Given the description of an element on the screen output the (x, y) to click on. 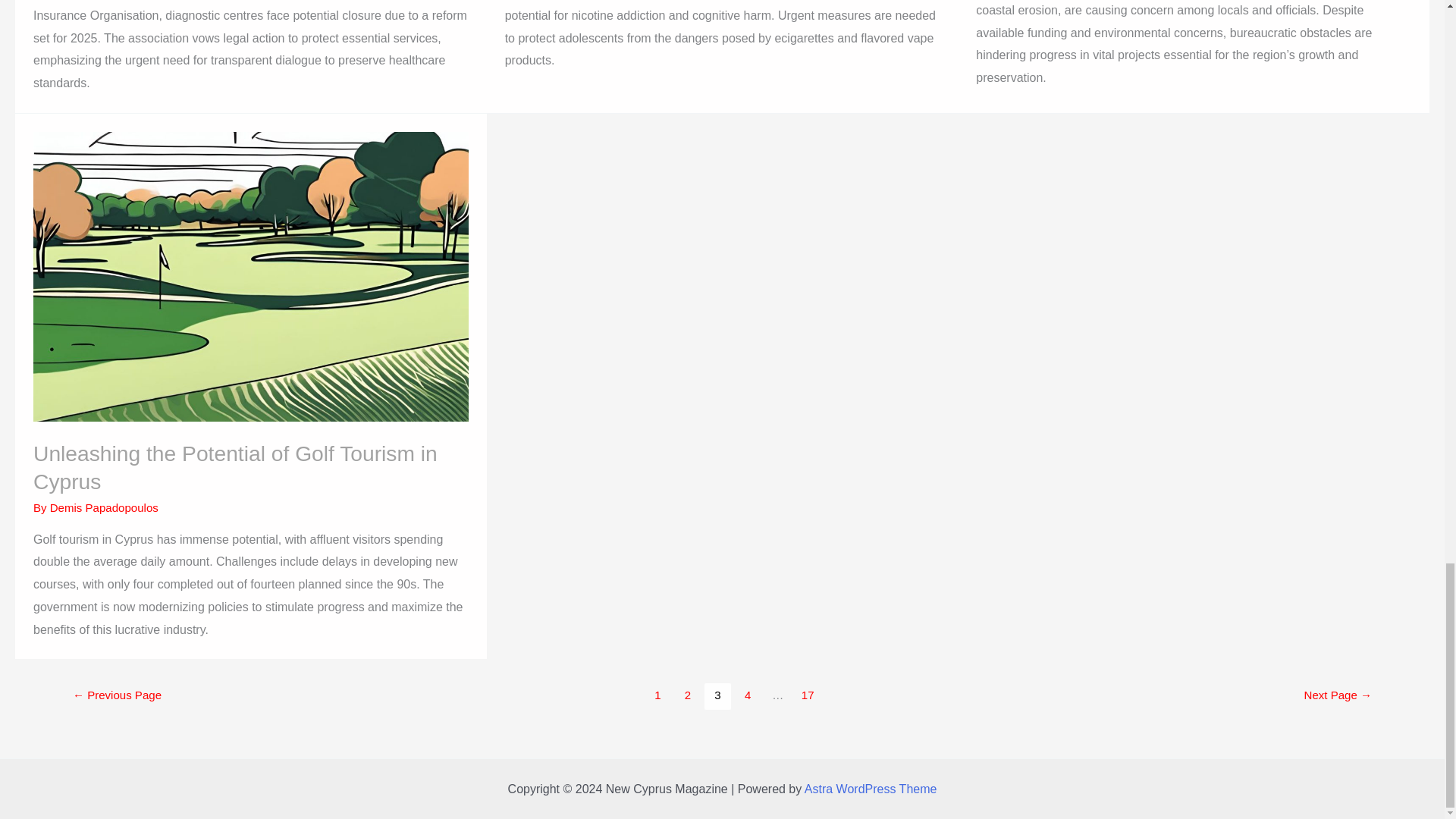
View all posts by Demis Papadopoulos (103, 507)
